Given the description of an element on the screen output the (x, y) to click on. 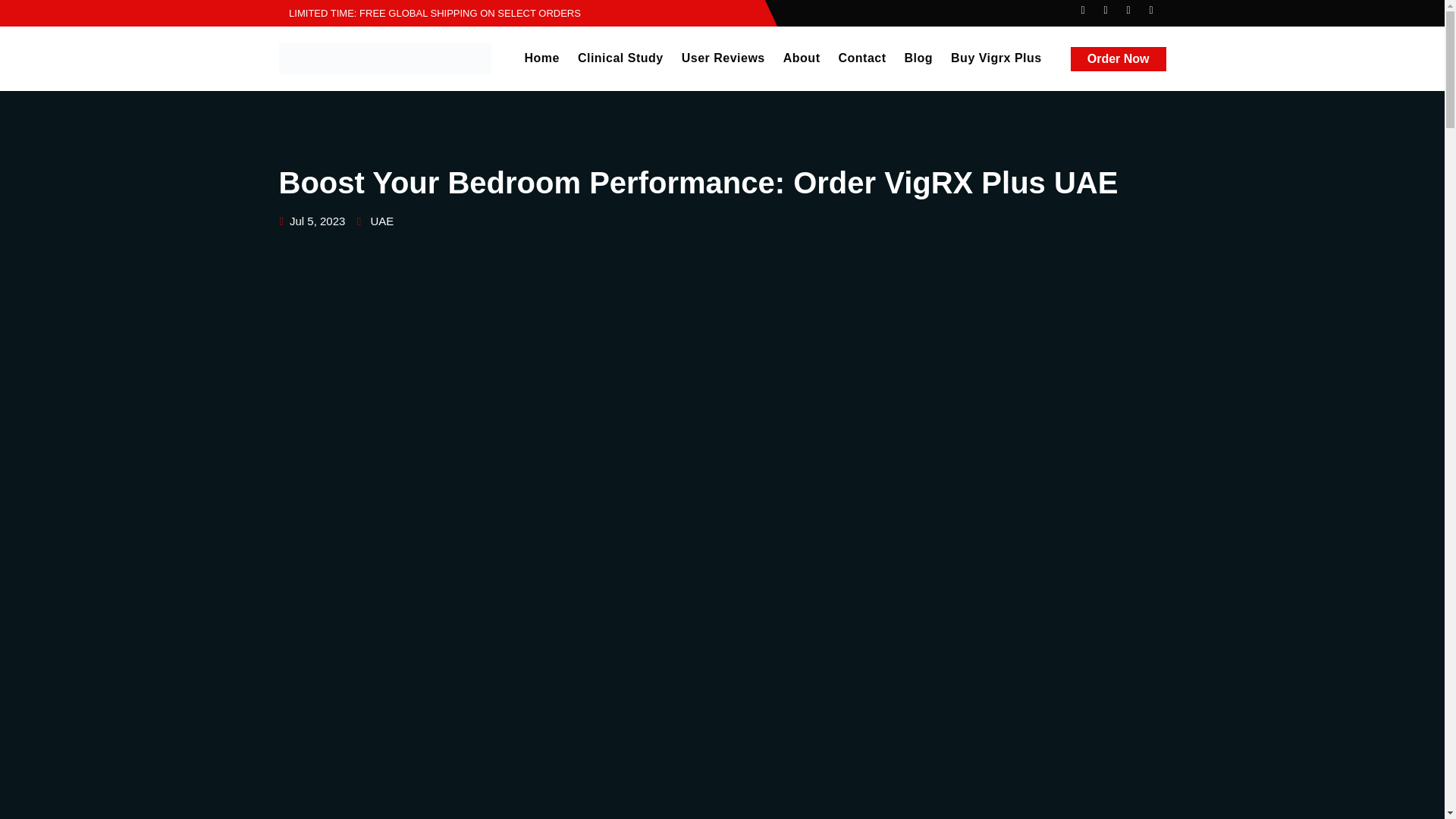
Order Now (1118, 58)
Contact (861, 57)
User Reviews (723, 57)
Clinical Study (620, 57)
Contact (861, 57)
Blog (918, 57)
LIMITED TIME: FREE GLOBAL SHIPPING ON SELECT ORDERS (429, 12)
Clinical Study (620, 57)
Blog (918, 57)
Buy Vigrx Plus (996, 57)
Home (541, 57)
About (801, 57)
About (801, 57)
User Reviews (723, 57)
UAE (381, 221)
